Given the description of an element on the screen output the (x, y) to click on. 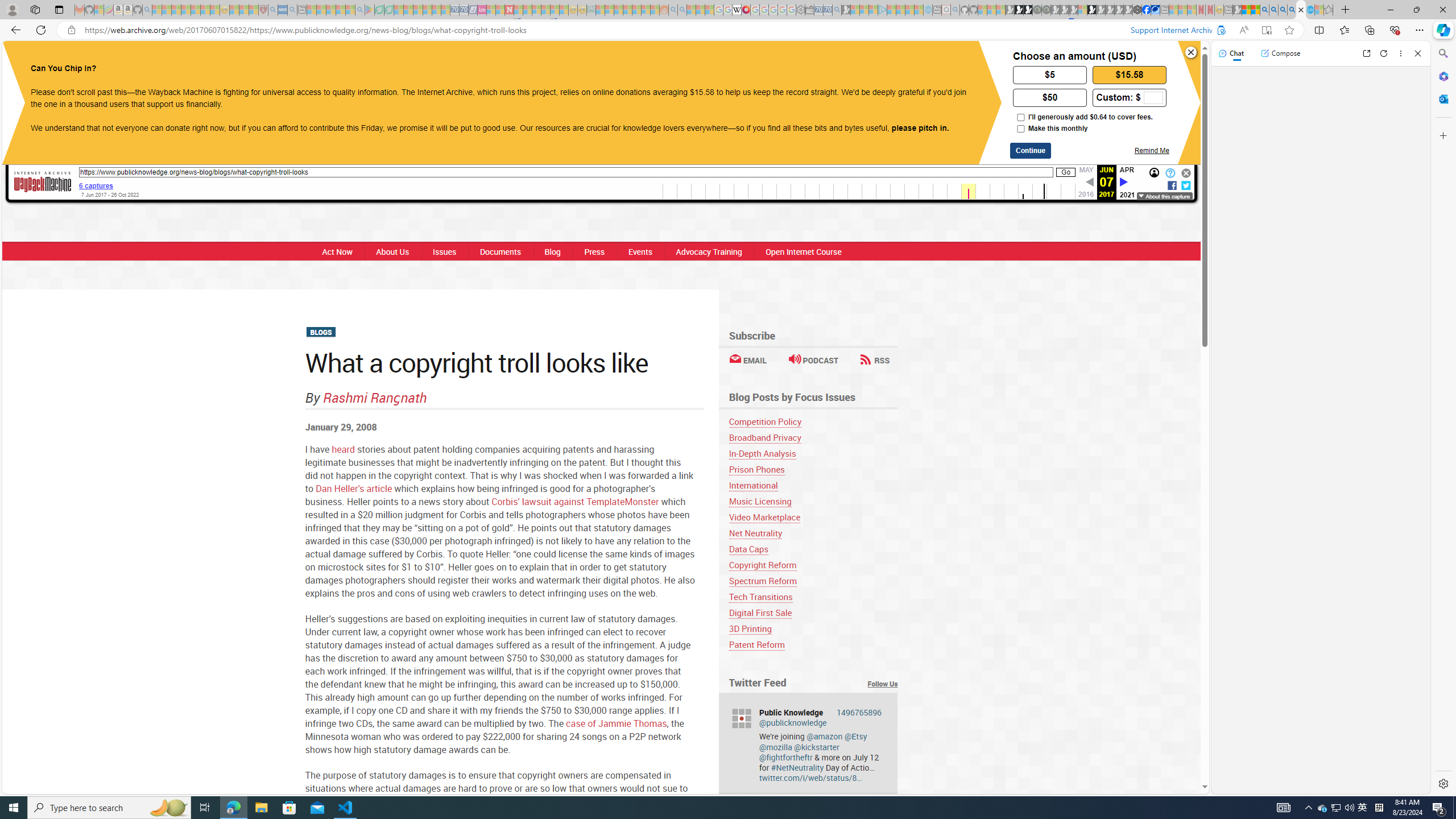
Public Knowledge (368, 60)
Go (1065, 172)
EMAIL (747, 360)
@mozilla (775, 746)
Next capture (1123, 181)
Make this monthly (1020, 128)
Prison Phones (756, 469)
